Given the description of an element on the screen output the (x, y) to click on. 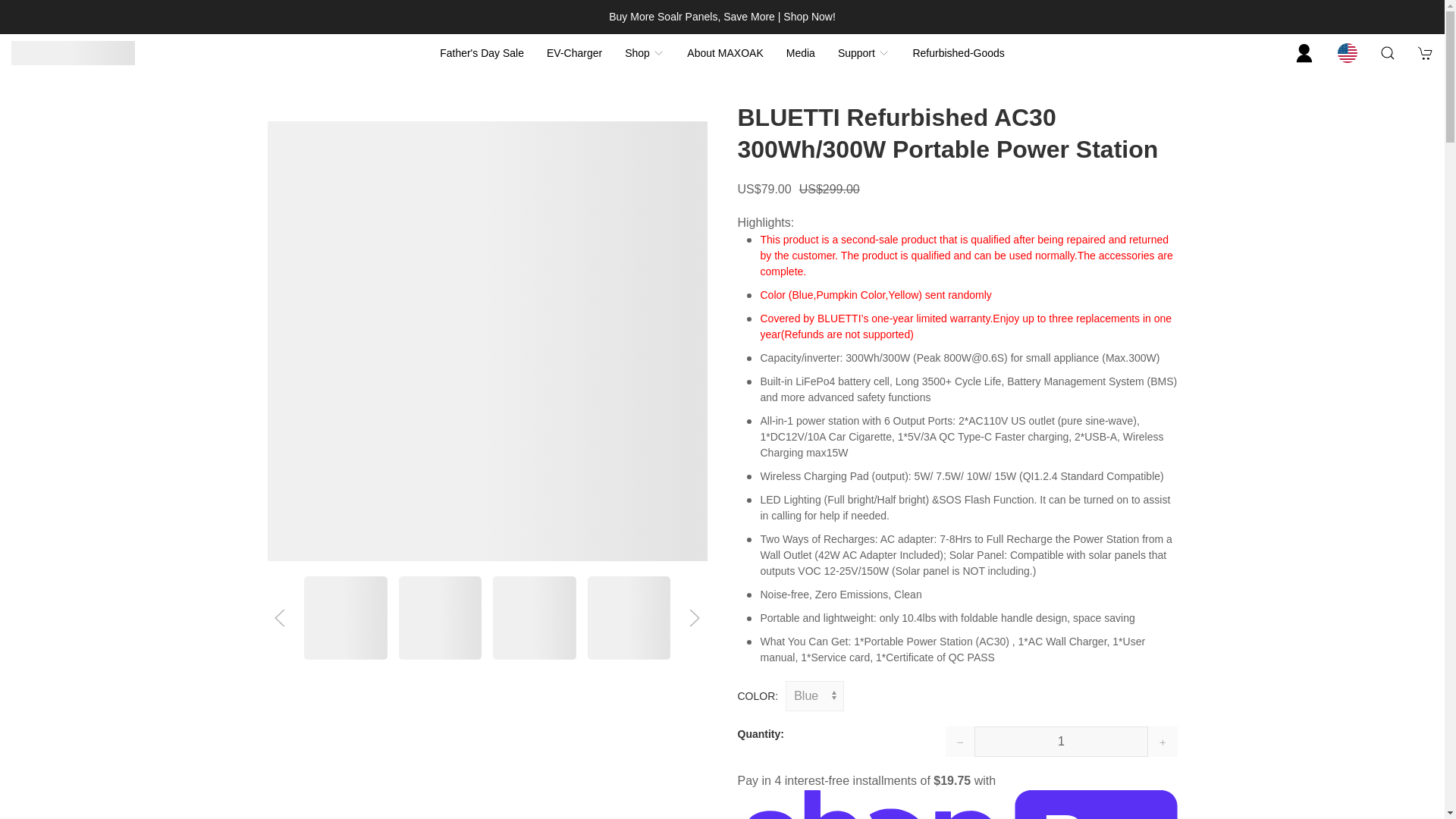
1 (1061, 741)
Father'S Day Sale (481, 53)
EV-Charger (573, 53)
Shop (643, 53)
